Given the description of an element on the screen output the (x, y) to click on. 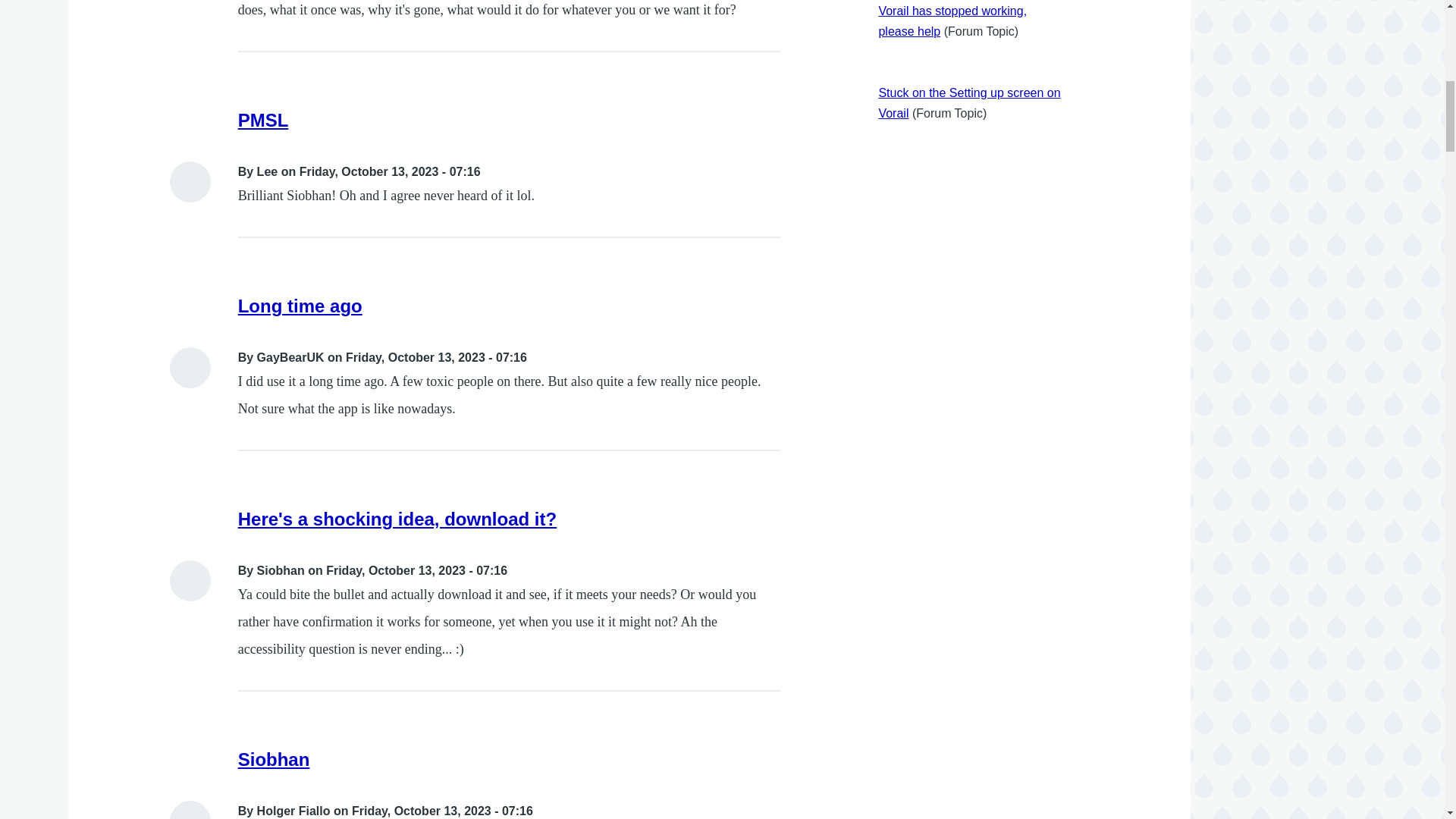
PMSL (263, 119)
Long time ago (300, 305)
Siobhan (274, 759)
Here's a shocking idea, download it? (397, 518)
